Given the description of an element on the screen output the (x, y) to click on. 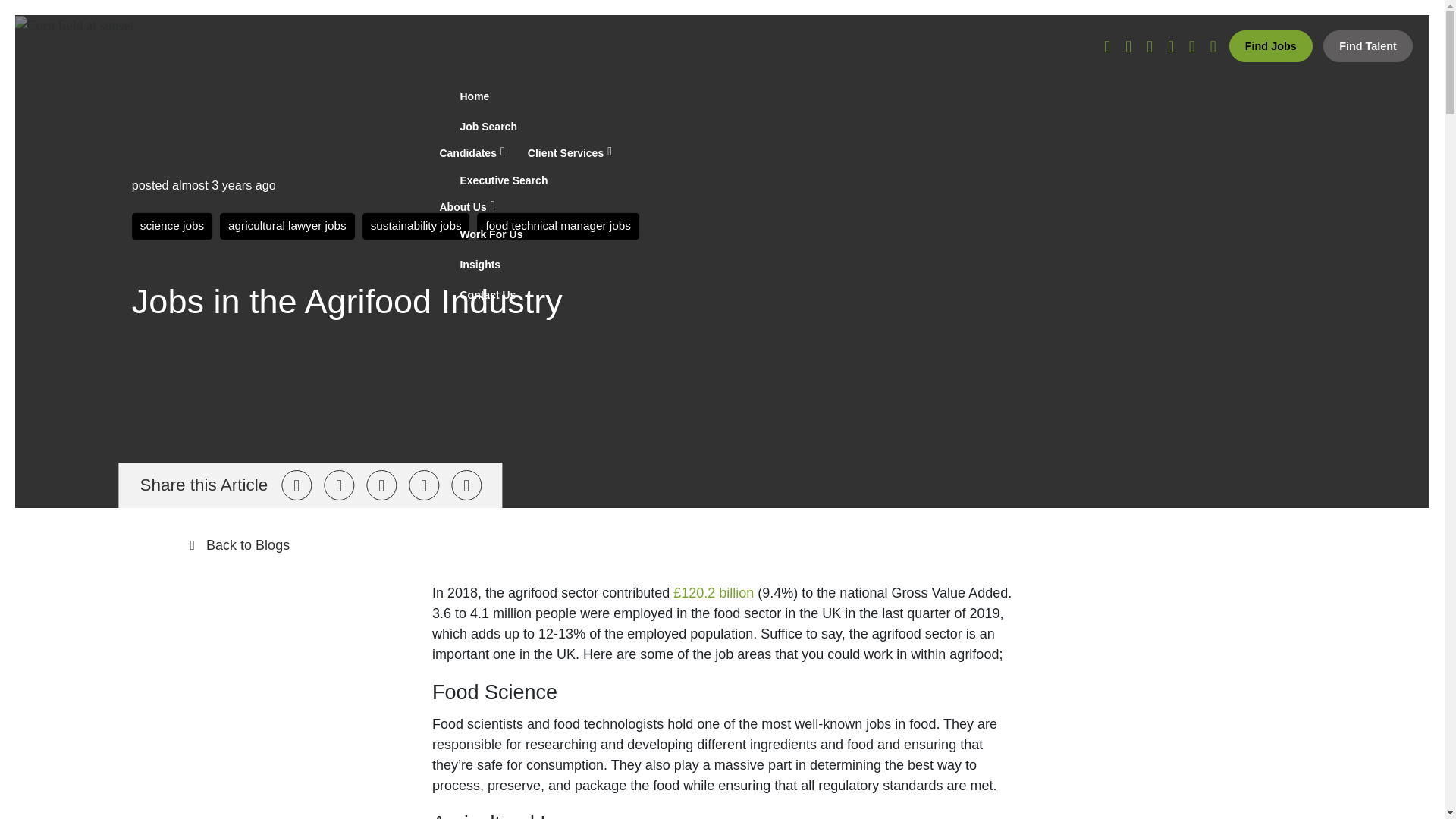
send in Whatsapp (466, 485)
Go to the Homepage (120, 170)
Executive Search (922, 180)
Work For Us (922, 234)
Email this (424, 485)
Job Search (922, 126)
Find Talent (1367, 46)
Tweet this (296, 485)
share on Facebook (338, 485)
Agricultural Recruitment Specialists (120, 170)
